Given the description of an element on the screen output the (x, y) to click on. 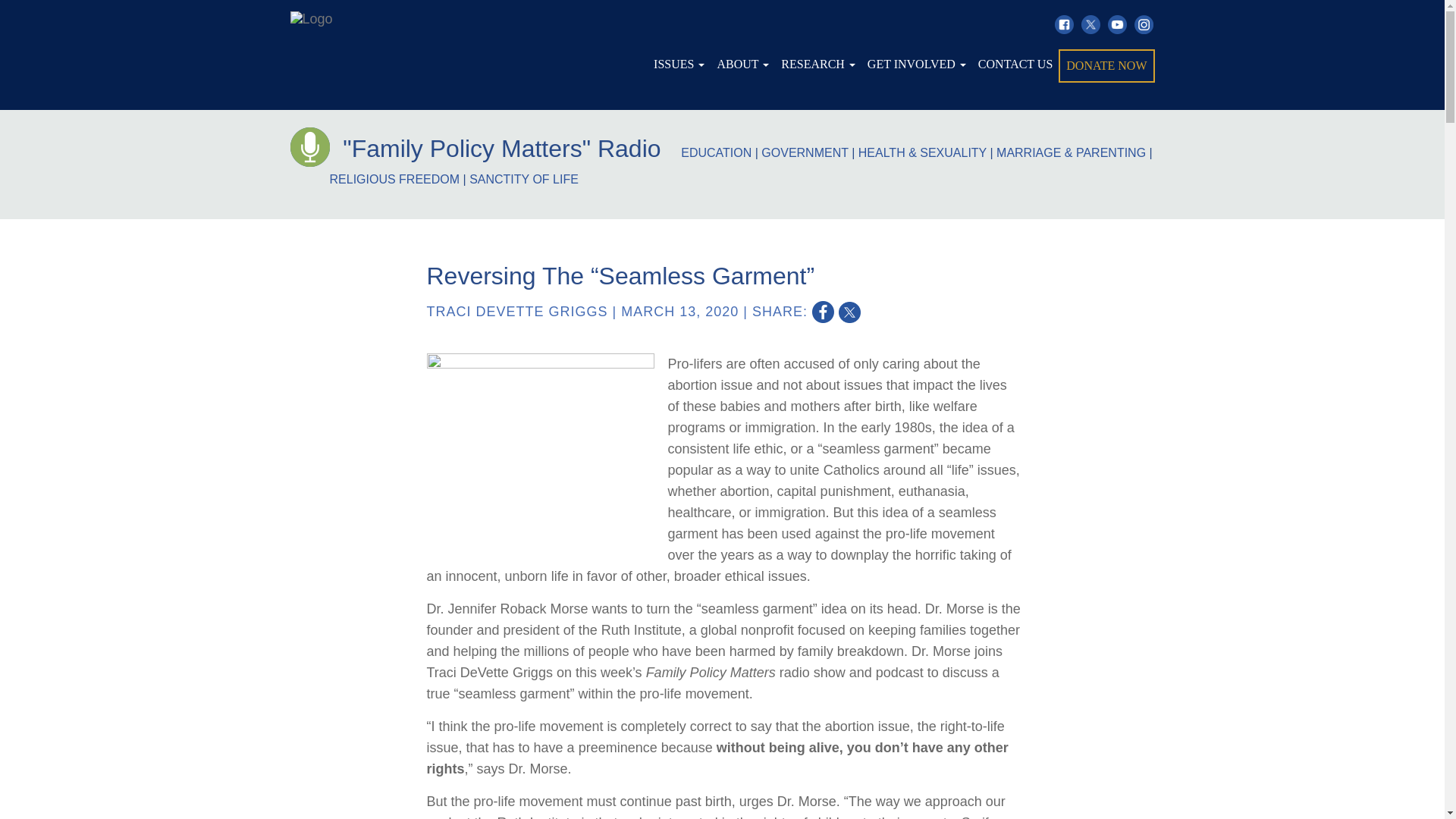
Facebook (1063, 24)
Youtube (1115, 24)
Instagram (1143, 24)
GET INVOLVED (916, 64)
ABOUT (742, 64)
GOVERNMENT (804, 152)
Issues (678, 64)
RELIGIOUS FREEDOM (394, 178)
CONTACT US (1015, 64)
EDUCATION (716, 152)
Youtube (1115, 24)
Twitter (1090, 24)
ISSUES (678, 64)
RESEARCH (817, 64)
Facebook (1063, 24)
